Given the description of an element on the screen output the (x, y) to click on. 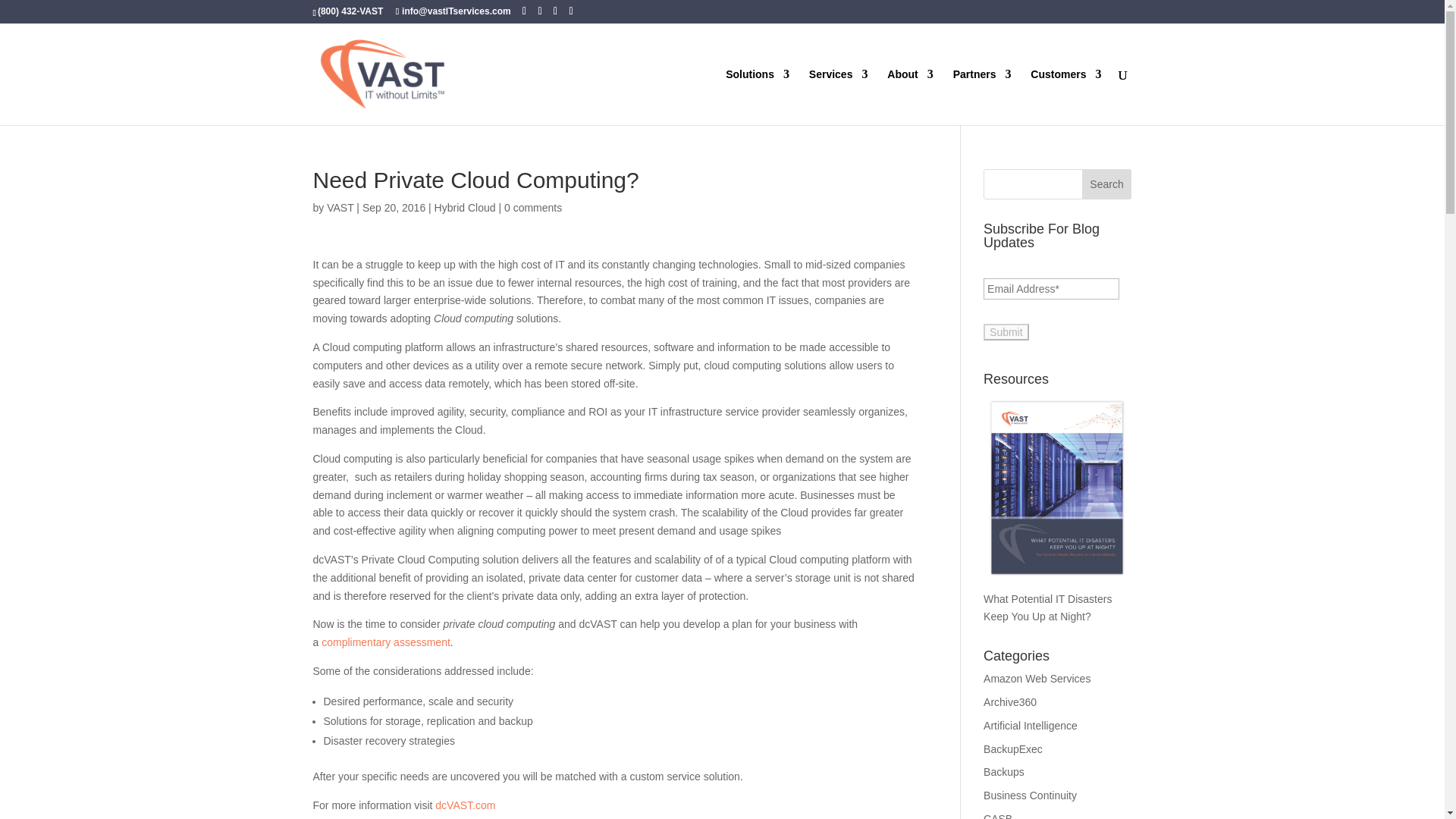
Services (838, 96)
Search (1106, 183)
Solutions (757, 96)
Submit (1006, 331)
Posts by VAST (339, 207)
